Given the description of an element on the screen output the (x, y) to click on. 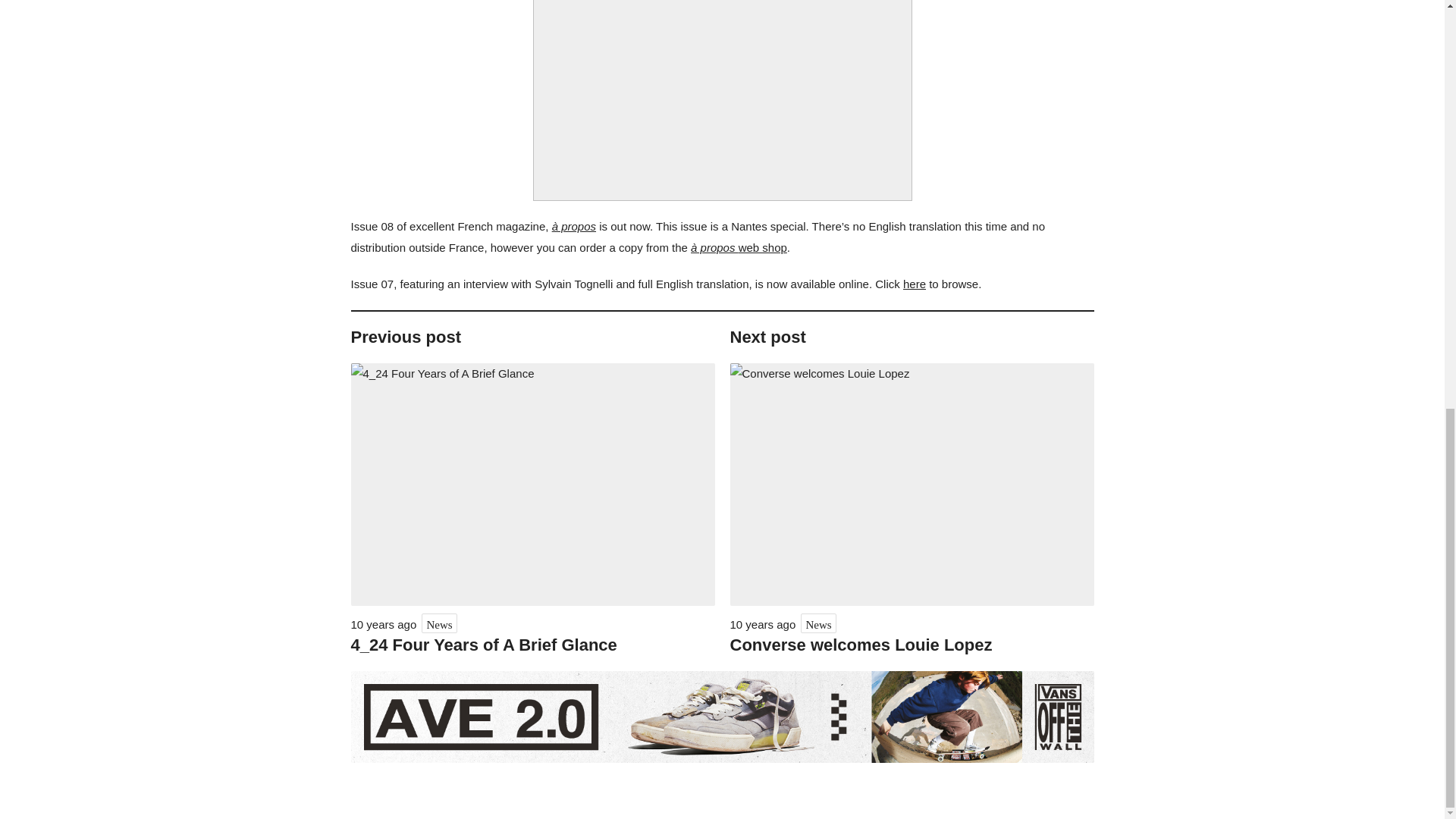
here (914, 283)
